Given the description of an element on the screen output the (x, y) to click on. 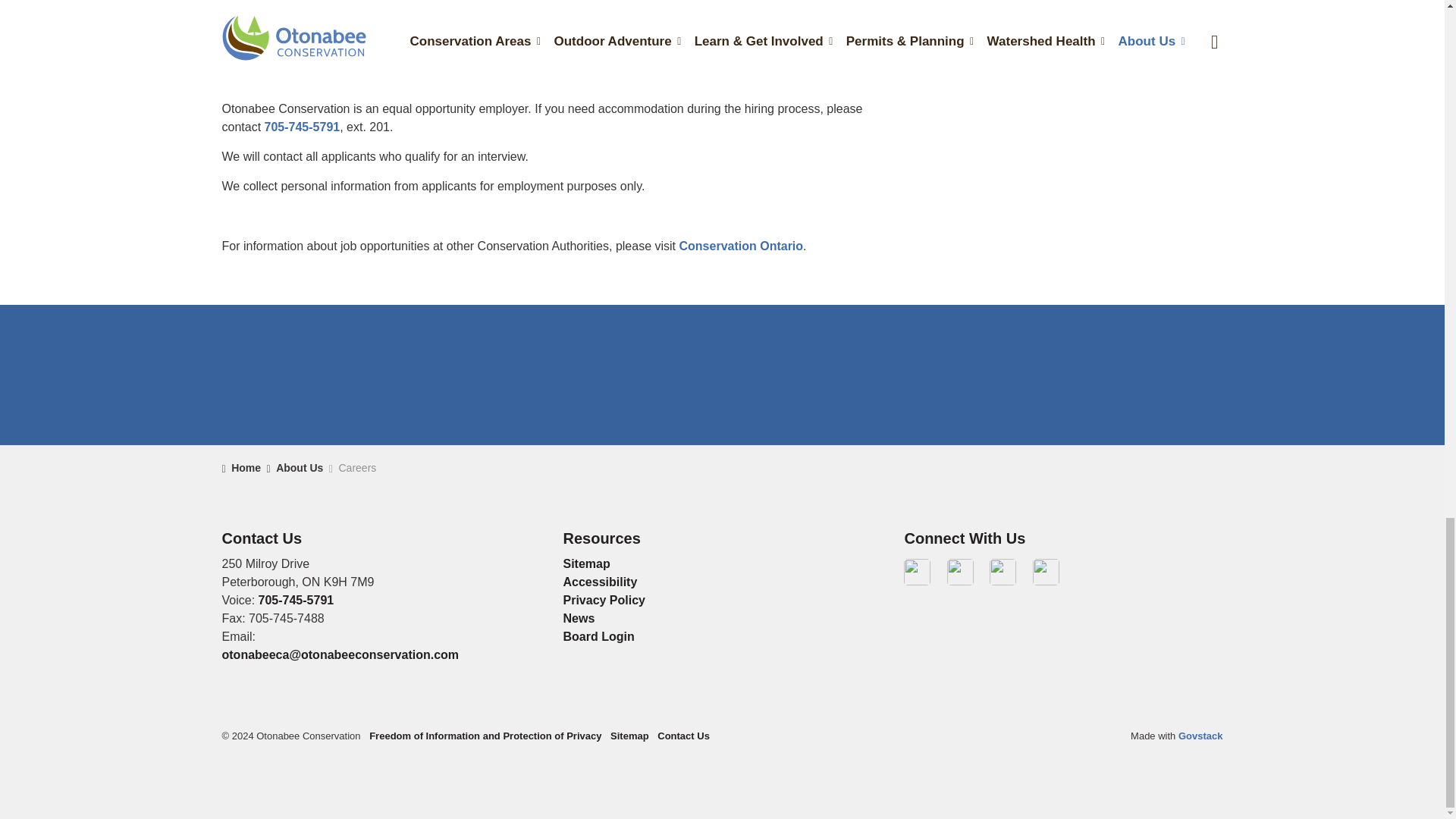
News and Notices (578, 617)
Call us (296, 599)
Board Login (597, 635)
Sitemap (586, 563)
Privacy Policy (603, 599)
Accessibility (599, 581)
Conservation Ontario (741, 245)
Call us (302, 126)
